Given the description of an element on the screen output the (x, y) to click on. 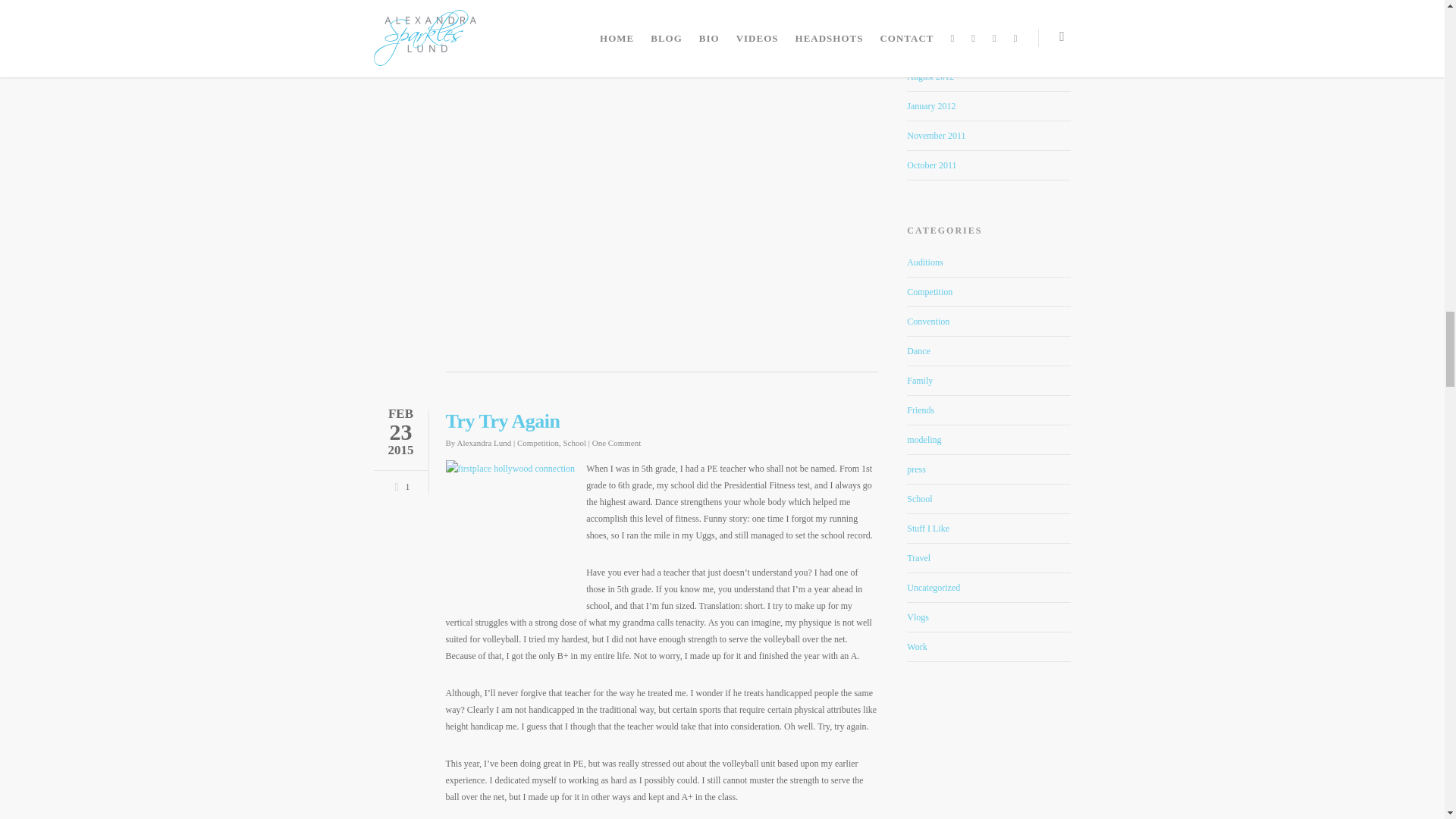
Love this (399, 484)
1 (399, 484)
Posts by Alexandra Lund (484, 442)
